Given the description of an element on the screen output the (x, y) to click on. 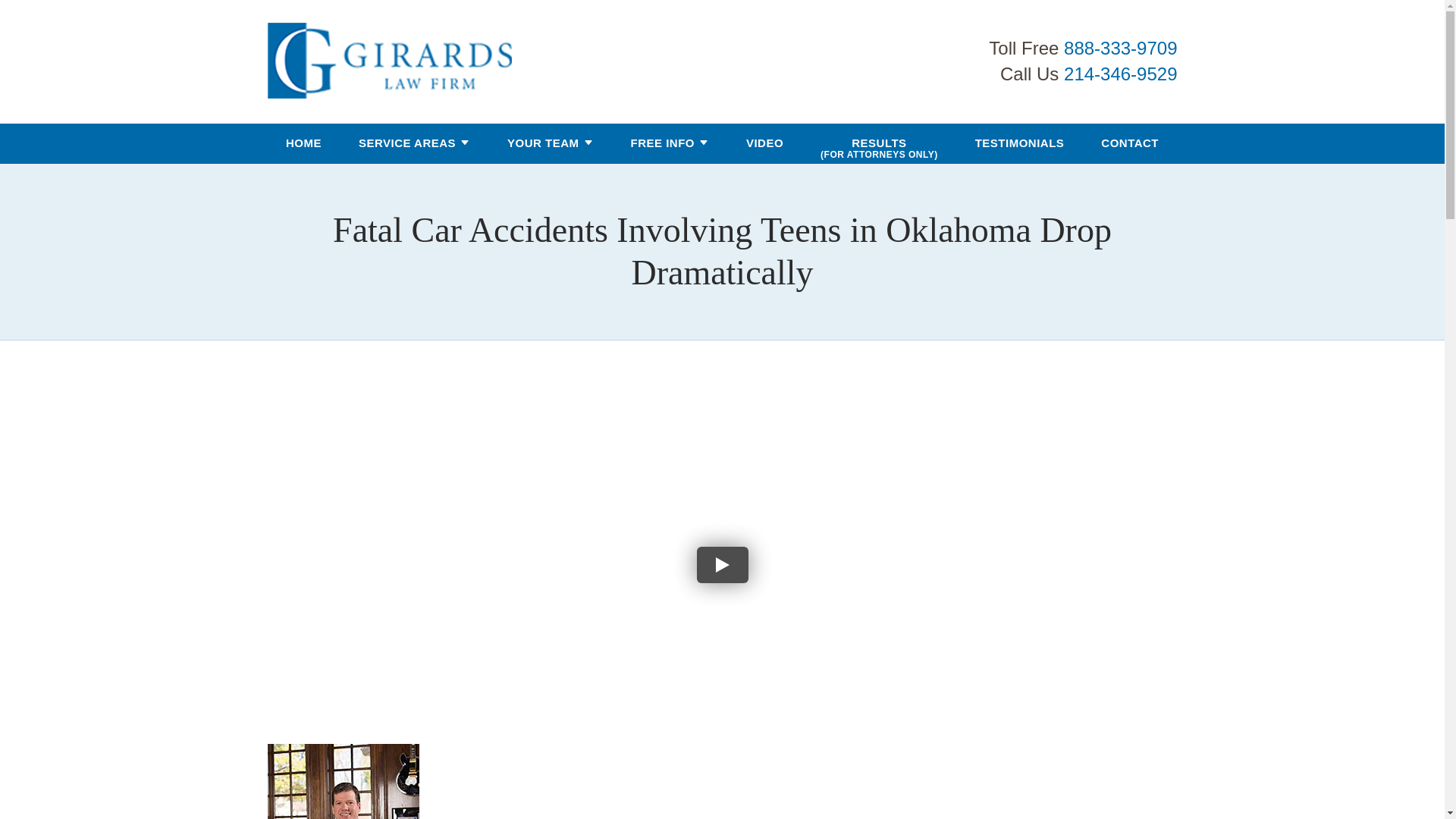
VIDEO (764, 143)
call tollfree (1120, 47)
SERVICE AREAS (406, 143)
CONTACT (1129, 143)
214-346-9529 (1120, 73)
888-333-9709 (1120, 47)
call local (1120, 73)
TESTIMONIALS (1019, 143)
YOUR TEAM (542, 143)
FREE INFO (662, 143)
